Given the description of an element on the screen output the (x, y) to click on. 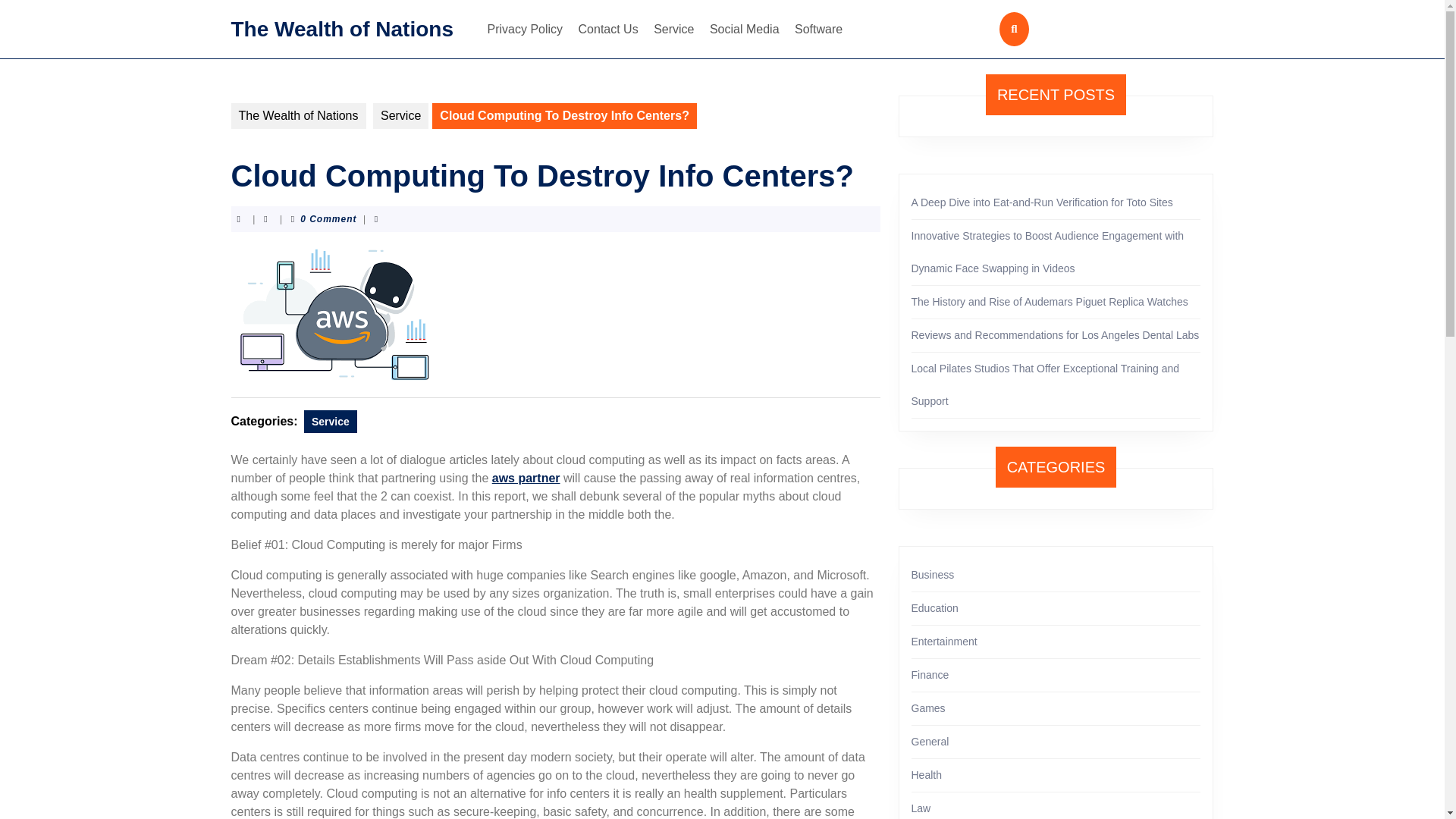
aws partner (526, 477)
Service (400, 115)
Service (673, 28)
A Deep Dive into Eat-and-Run Verification for Toto Sites (1042, 202)
Software (818, 28)
Contact Us (608, 28)
Service (330, 421)
Reviews and Recommendations for Los Angeles Dental Labs (1055, 335)
Privacy Policy (524, 28)
